Given the description of an element on the screen output the (x, y) to click on. 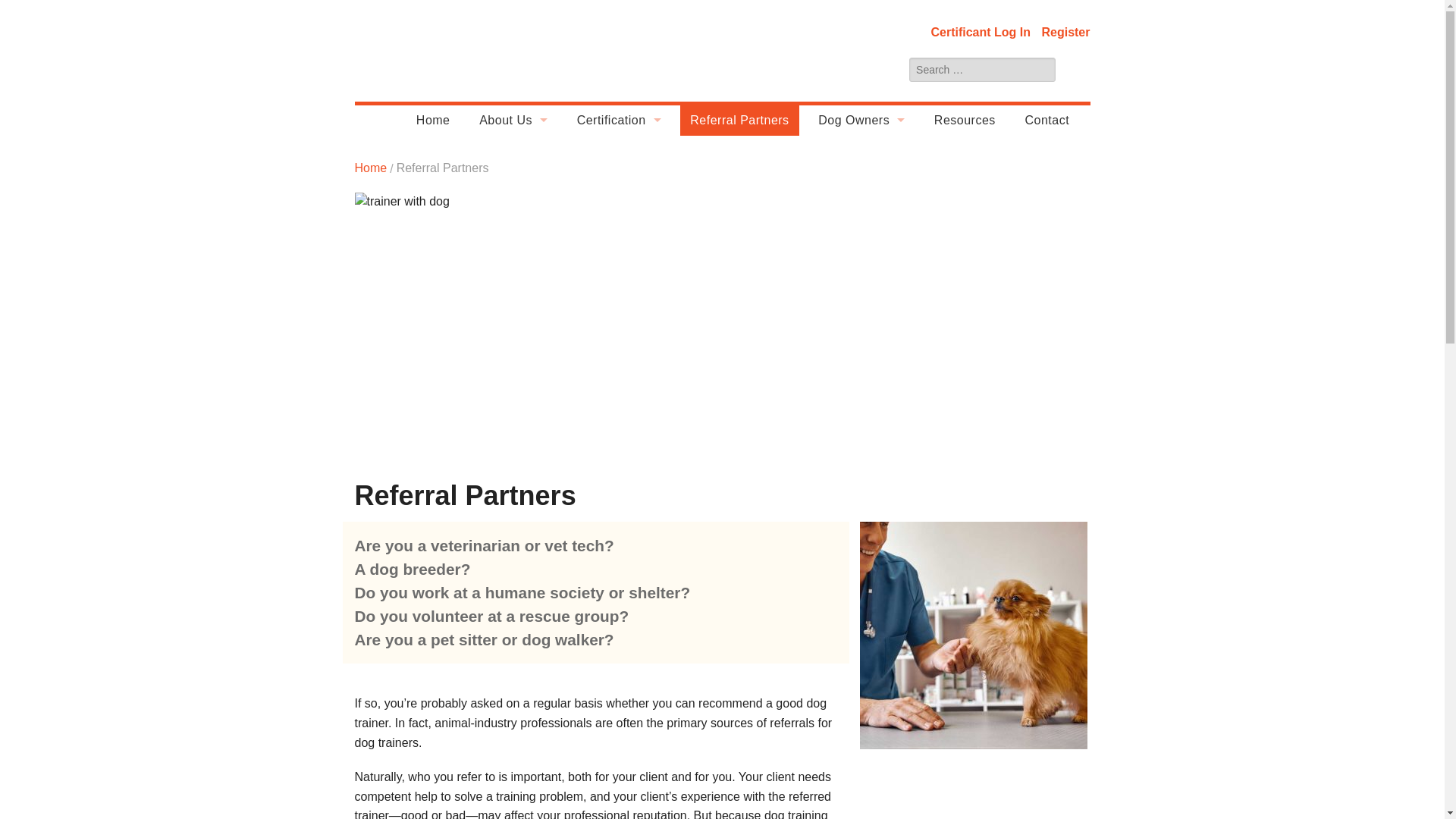
Find A Dog Pro (861, 211)
Continuing Education (618, 241)
Media Center (512, 363)
Contact (1046, 120)
Volunteer (512, 302)
Accreditation (512, 241)
Job Board (512, 393)
Search (1074, 69)
Behavior Consultant Certification (618, 181)
Certification (618, 120)
